Given the description of an element on the screen output the (x, y) to click on. 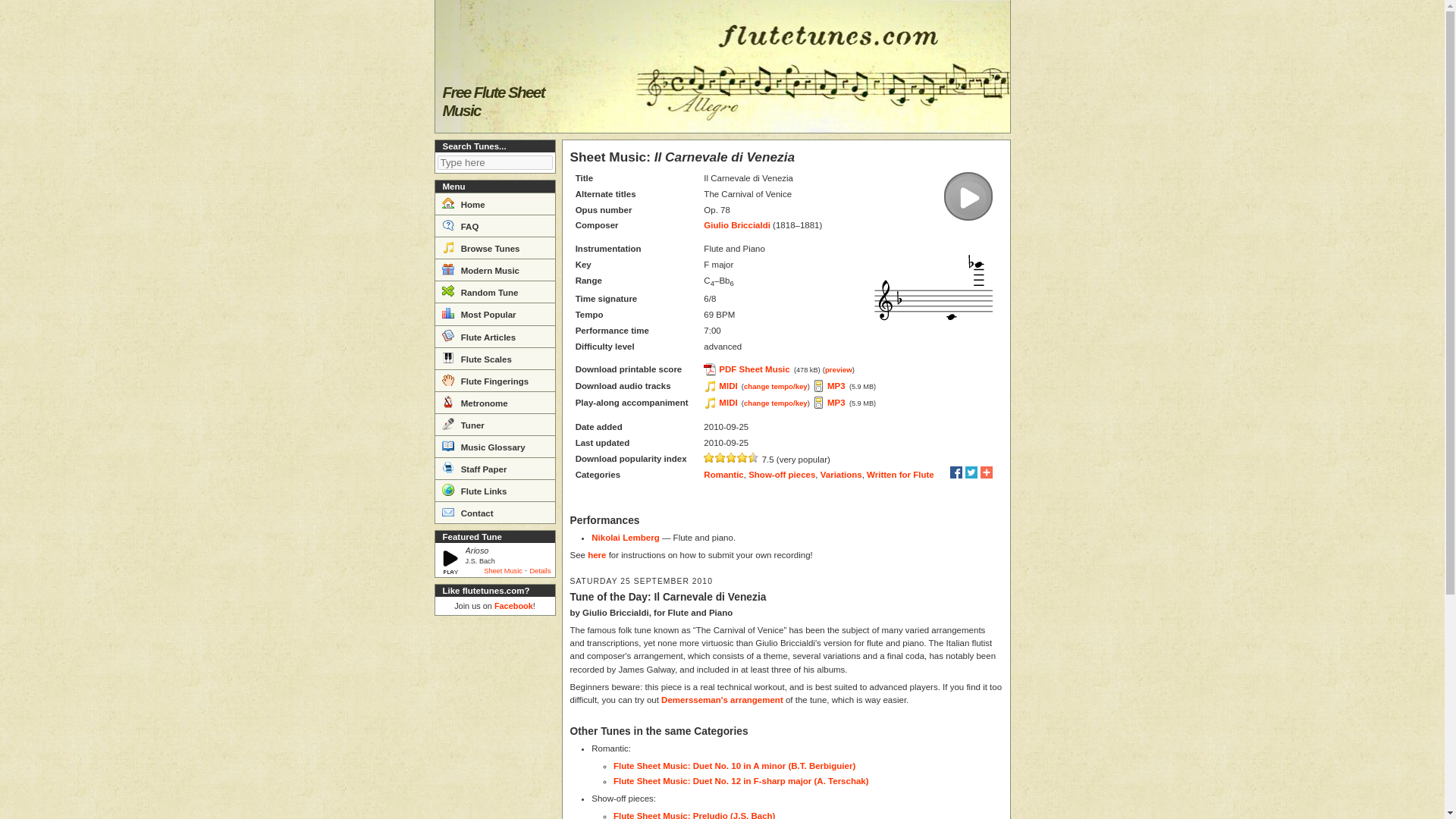
MP3 (829, 402)
Details (539, 570)
Modern Music (494, 269)
Written for Flute (900, 474)
Giulio Briccialdi (736, 225)
Browse Tunes (494, 247)
Most Popular (494, 313)
preview (838, 369)
here (596, 554)
Variations (841, 474)
